Given the description of an element on the screen output the (x, y) to click on. 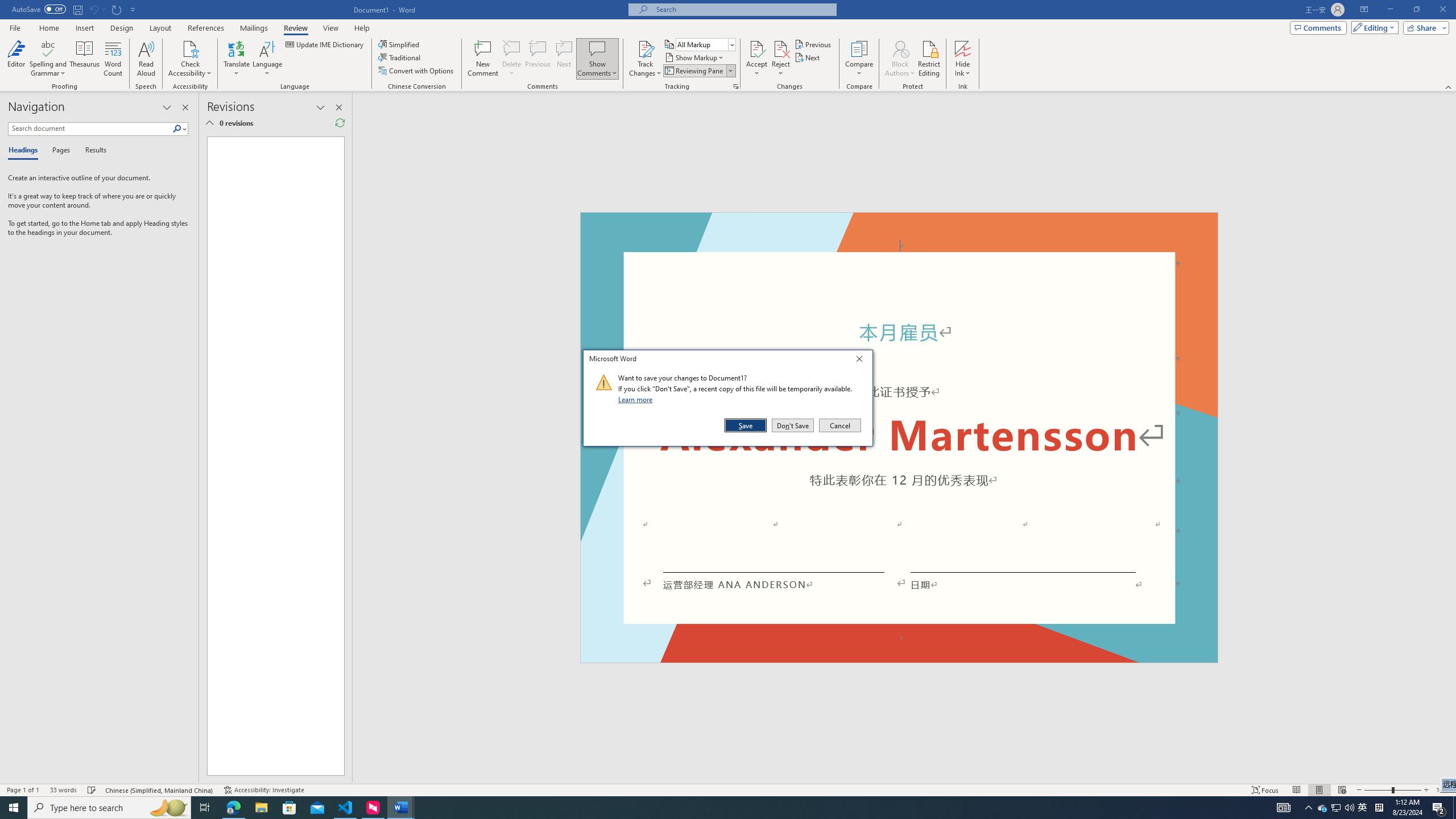
Don't Save (792, 425)
Check Accessibility (189, 48)
Zoom (1392, 790)
Header -Section 1- (898, 225)
Reviewing Pane (698, 69)
Zoom 100% (1443, 790)
Reject and Move to Next (780, 48)
Accept and Move to Next (756, 48)
